Given the description of an element on the screen output the (x, y) to click on. 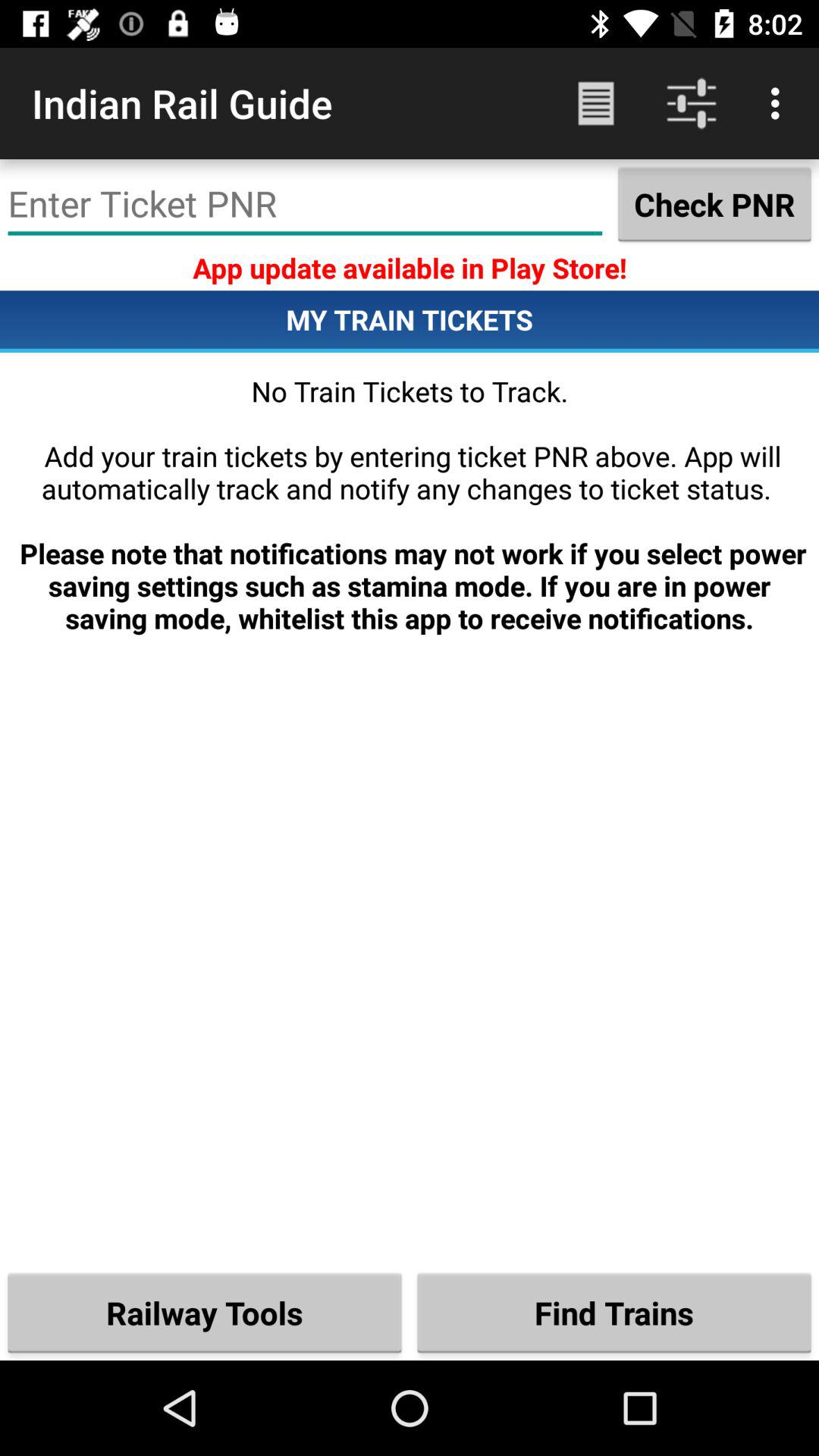
tap item above the check pnr item (779, 103)
